Given the description of an element on the screen output the (x, y) to click on. 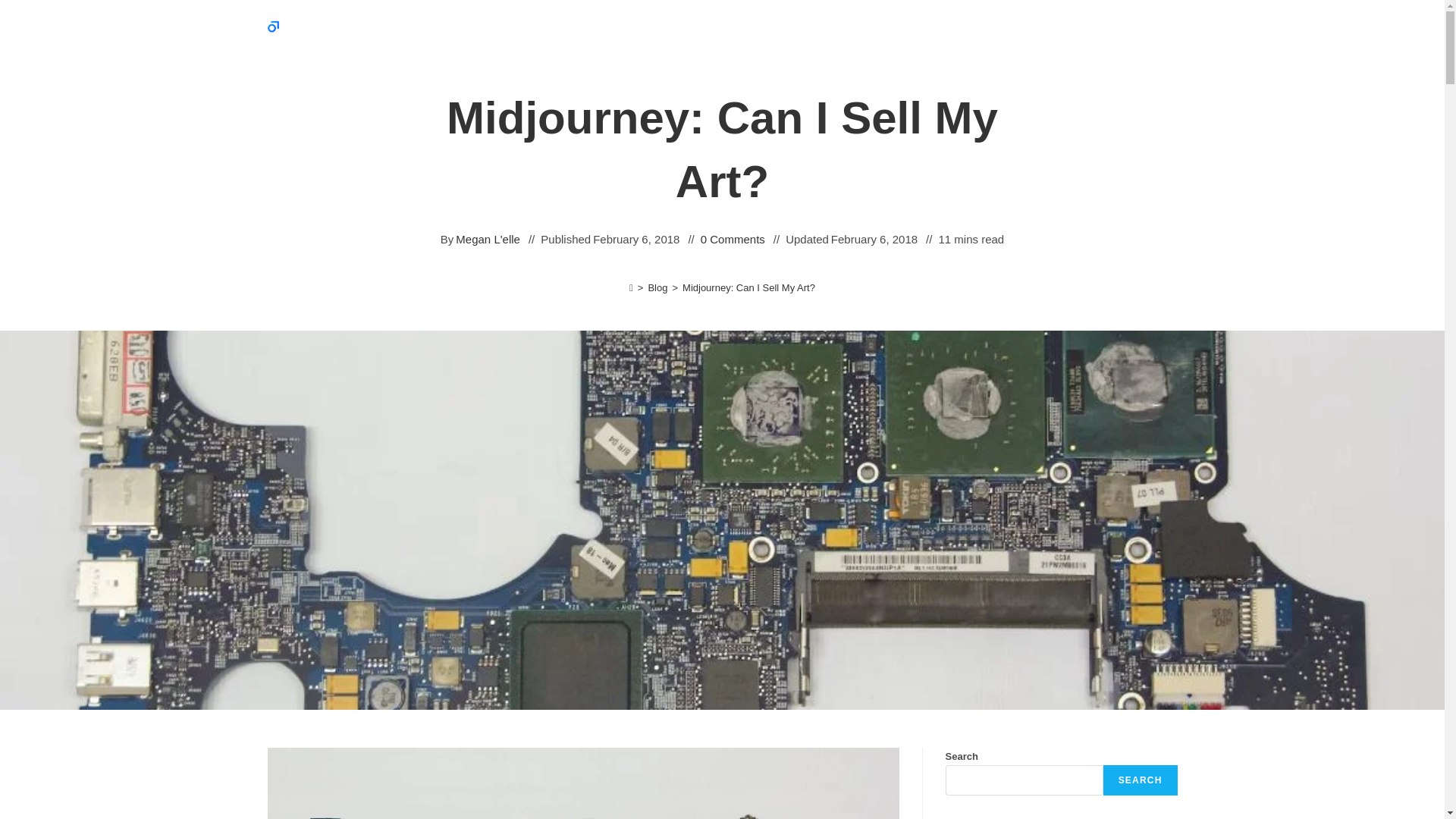
0 Comments (732, 239)
SEARCH (1140, 779)
Blog (656, 287)
Megan L'elle (487, 239)
Midjourney: Can I Sell My Art? (748, 287)
